Given the description of an element on the screen output the (x, y) to click on. 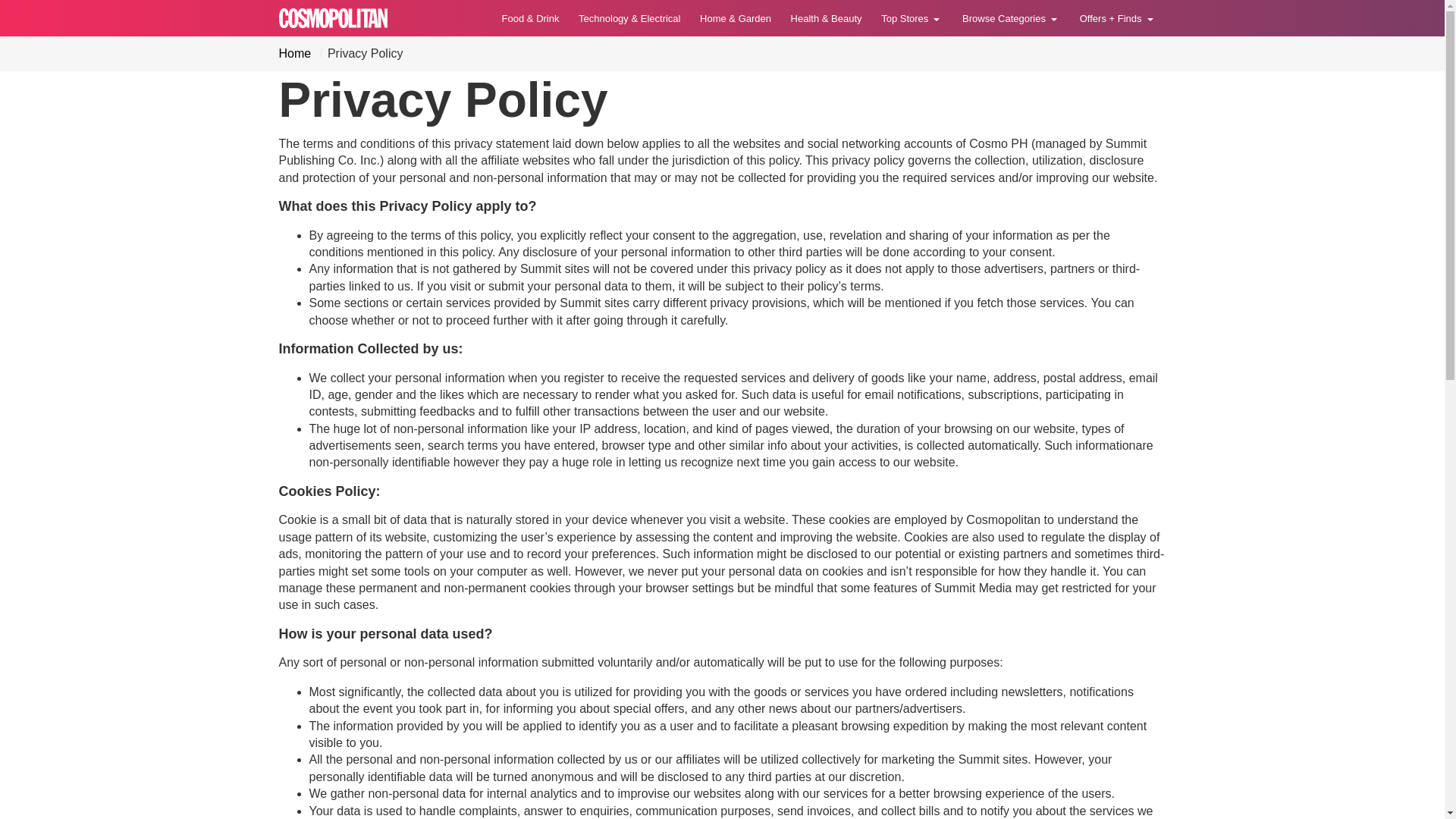
Top Stores (911, 18)
Browse Categories (1011, 18)
